Given the description of an element on the screen output the (x, y) to click on. 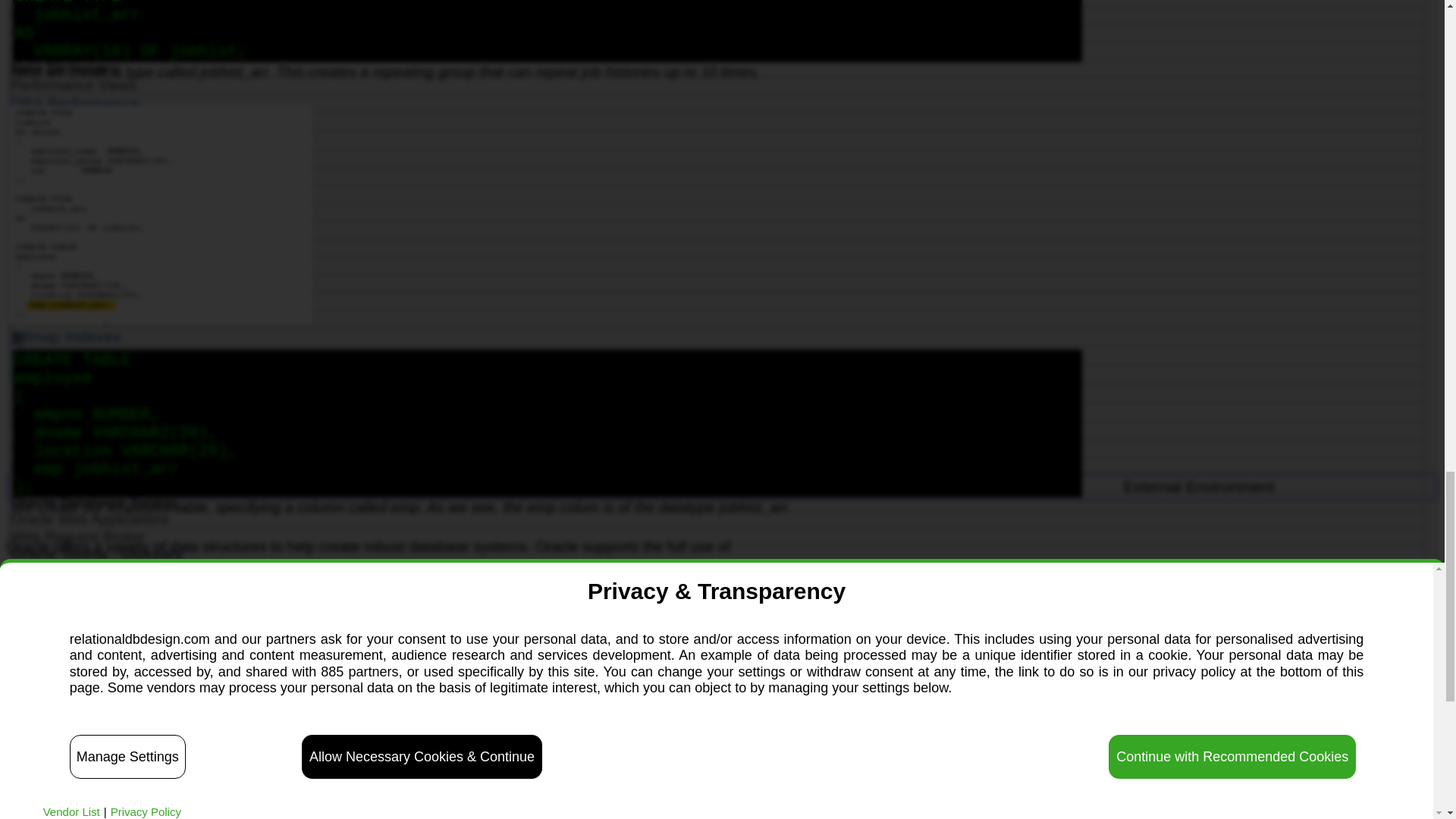
Oracle nested Tables (716, 15)
Tuning Instance (245, 486)
Performance Views (716, 85)
Tuning Basics (721, 486)
Buffer hit Ratio (716, 121)
Building Alert Monitor (716, 140)
Data Dictionary (716, 67)
DBA Performance (716, 104)
Oracle Varrays (716, 33)
